Given the description of an element on the screen output the (x, y) to click on. 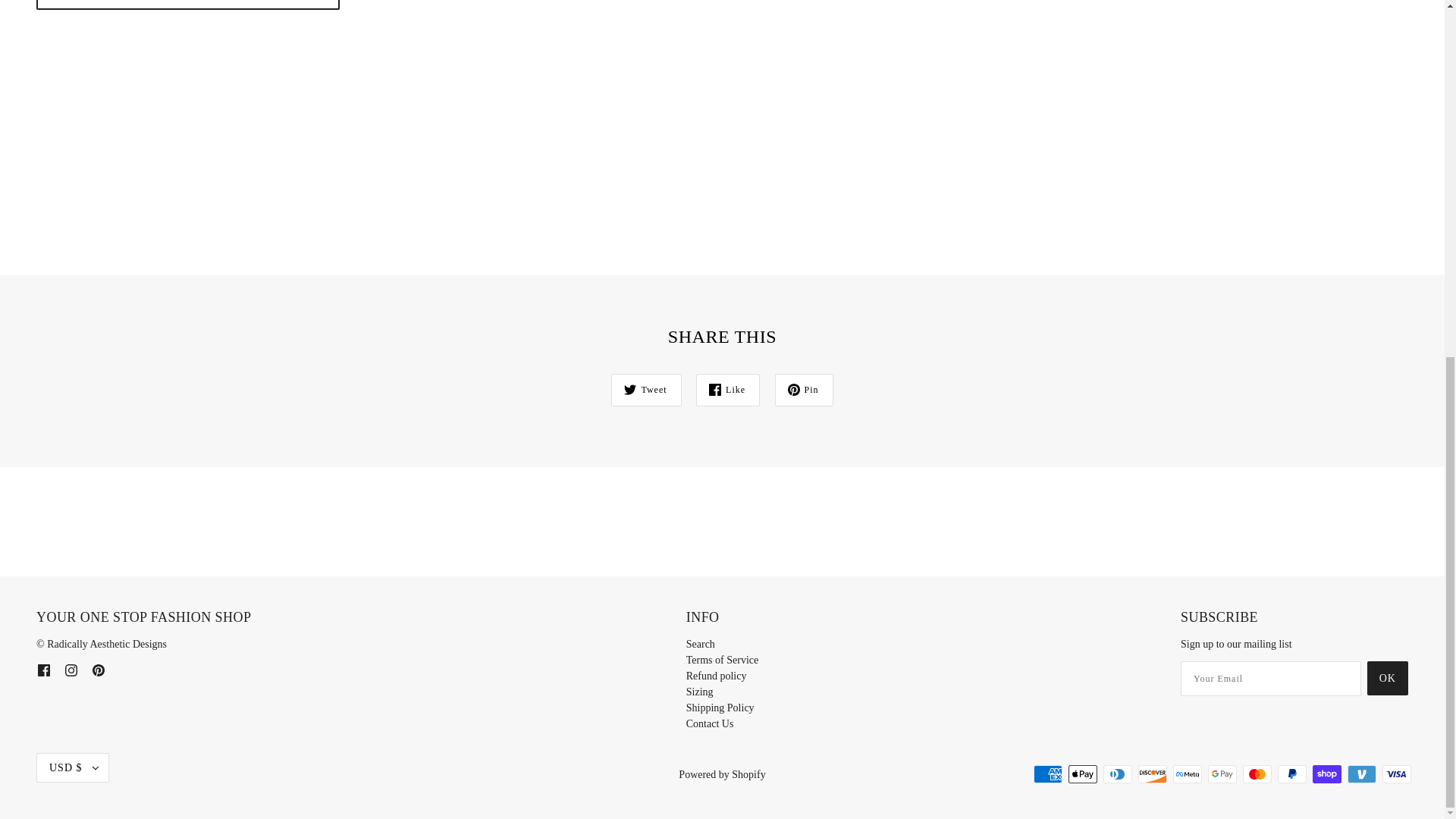
Shipping Policy (719, 707)
Refund policy (715, 675)
Contact Us (709, 723)
Apple Pay (1082, 773)
Search (699, 644)
Terms of Service (721, 659)
Discover (1152, 773)
Diners Club (1117, 773)
Sizing (699, 691)
American Express (1047, 773)
